Given the description of an element on the screen output the (x, y) to click on. 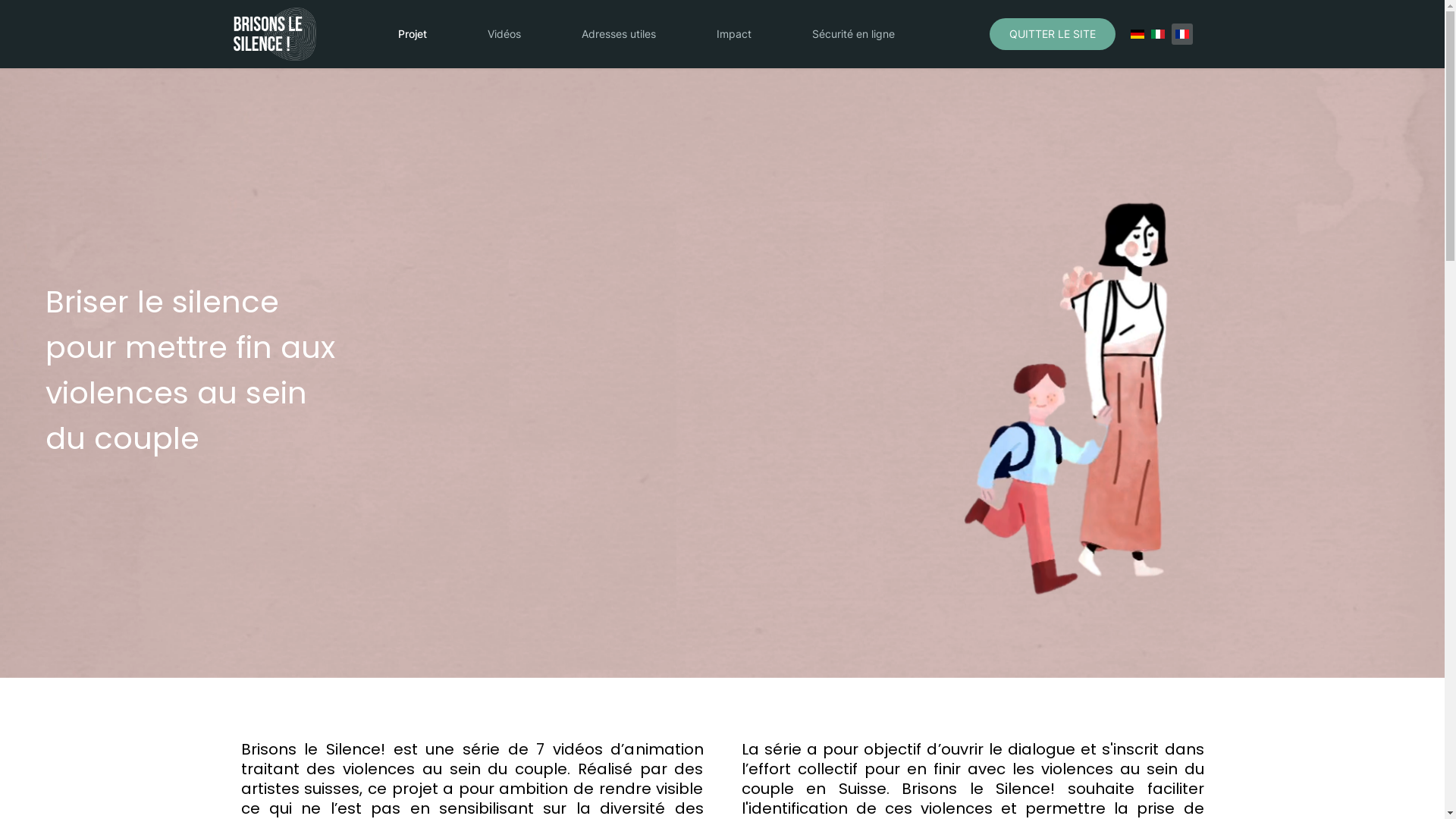
Adresses utiles Element type: text (617, 34)
Deutsch (Deutschland) Element type: hover (1136, 33)
Projet Element type: text (411, 34)
Italiano (it-IT) Element type: hover (1157, 33)
Impact Element type: text (733, 34)
QUITTER LE SITE Element type: text (1051, 34)
